Given the description of an element on the screen output the (x, y) to click on. 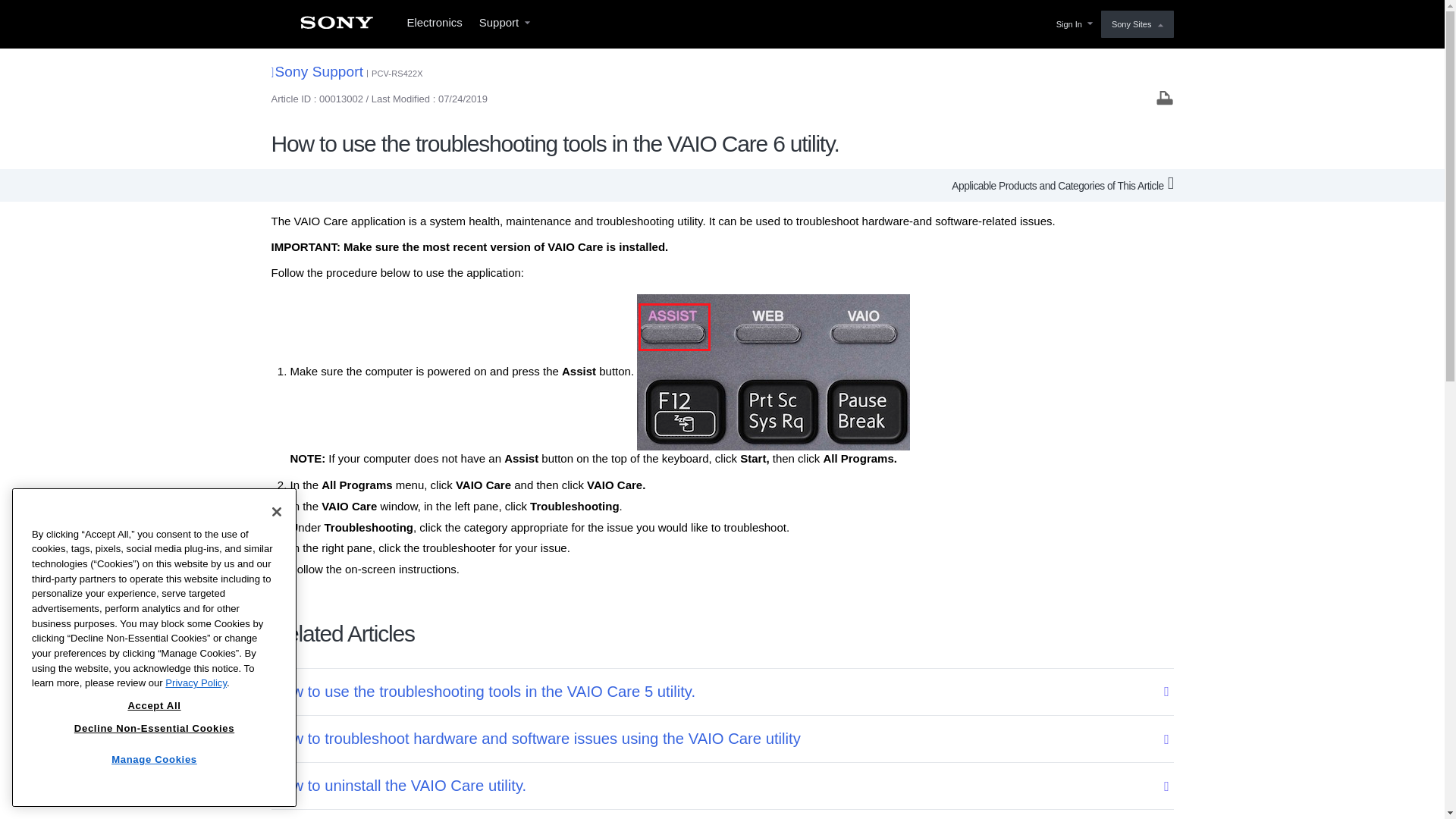
Sign In (1072, 23)
SONY (336, 26)
PCV-RS422X (397, 72)
Support (504, 24)
Print (1164, 97)
Sony Support (317, 71)
How to uninstall the VAIO Care utility. (712, 785)
Electronics (434, 24)
Sony Sites (1136, 23)
SONY (336, 26)
